Given the description of an element on the screen output the (x, y) to click on. 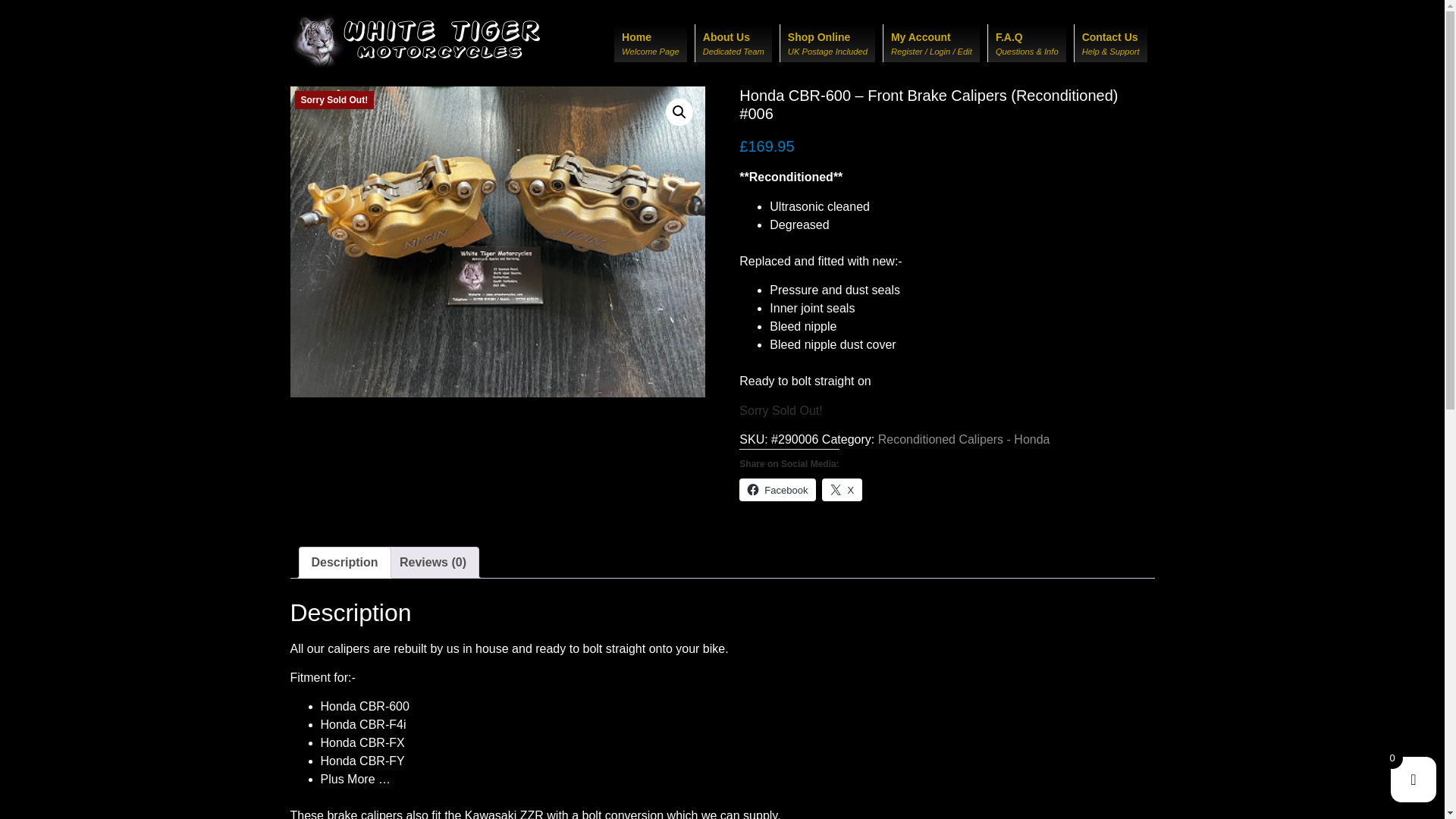
Reconditioned Calipers - Honda (963, 439)
Facebook (777, 489)
Description (344, 562)
Click to share on Facebook (940, 105)
Click to share on X (650, 43)
X (1117, 105)
